Given the description of an element on the screen output the (x, y) to click on. 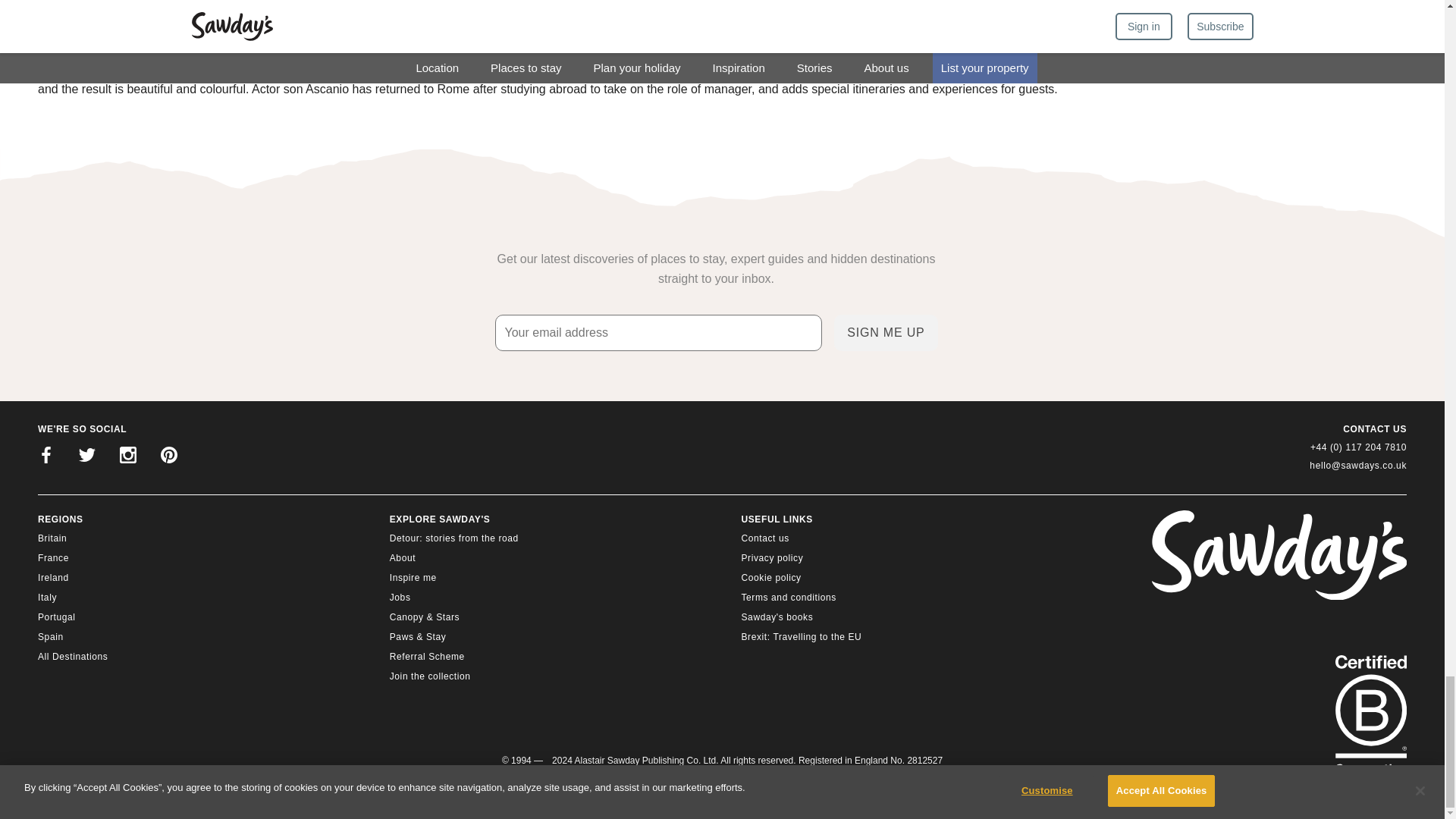
Pinterest (168, 457)
Facebook (46, 457)
SIGN ME UP (885, 332)
Twitter (86, 457)
Instagram (127, 457)
